Given the description of an element on the screen output the (x, y) to click on. 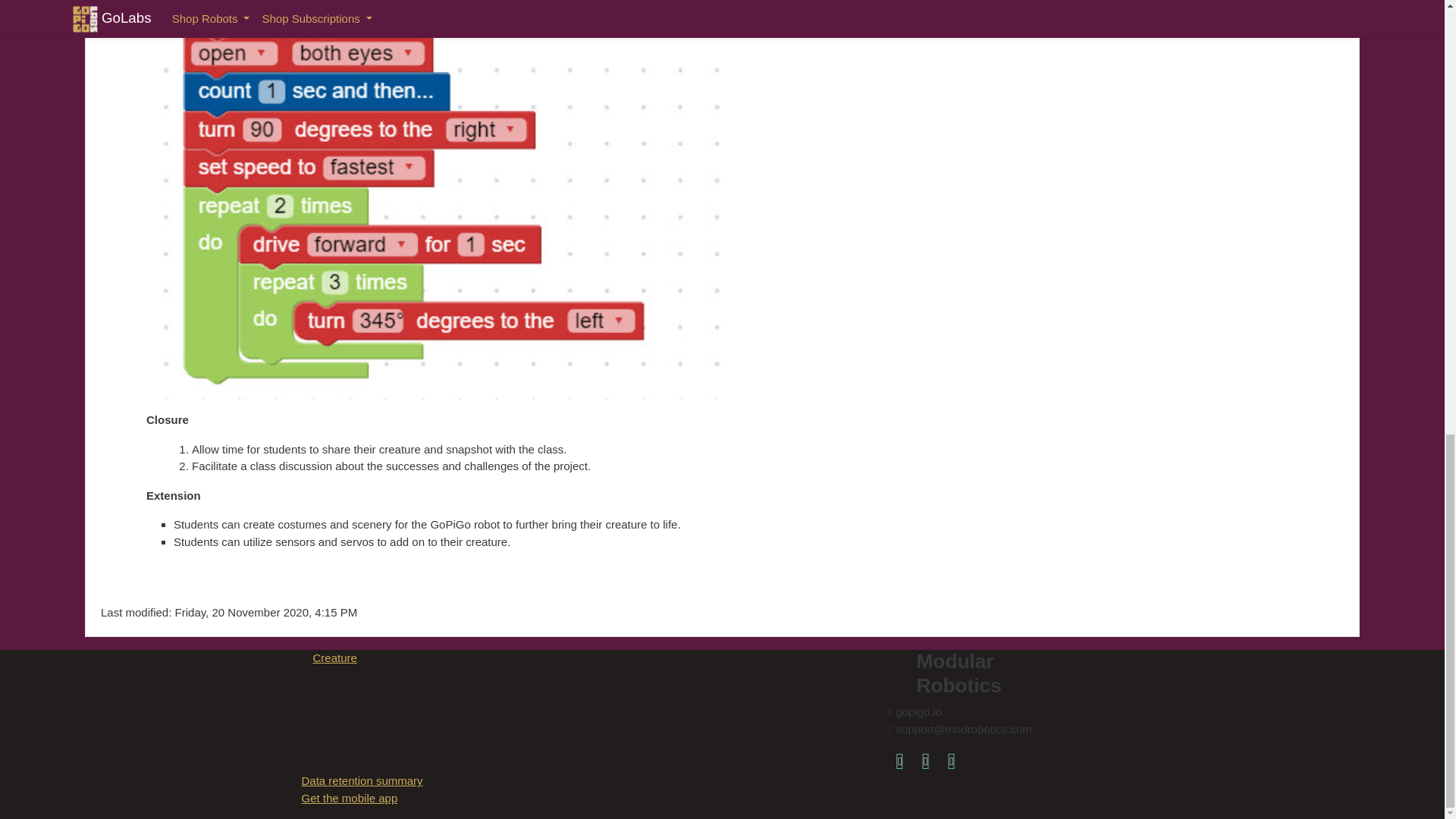
Creature (334, 657)
Data retention summary (362, 780)
gopigo.io (951, 759)
Get the mobile app (349, 797)
gopigo.io (951, 759)
